Given the description of an element on the screen output the (x, y) to click on. 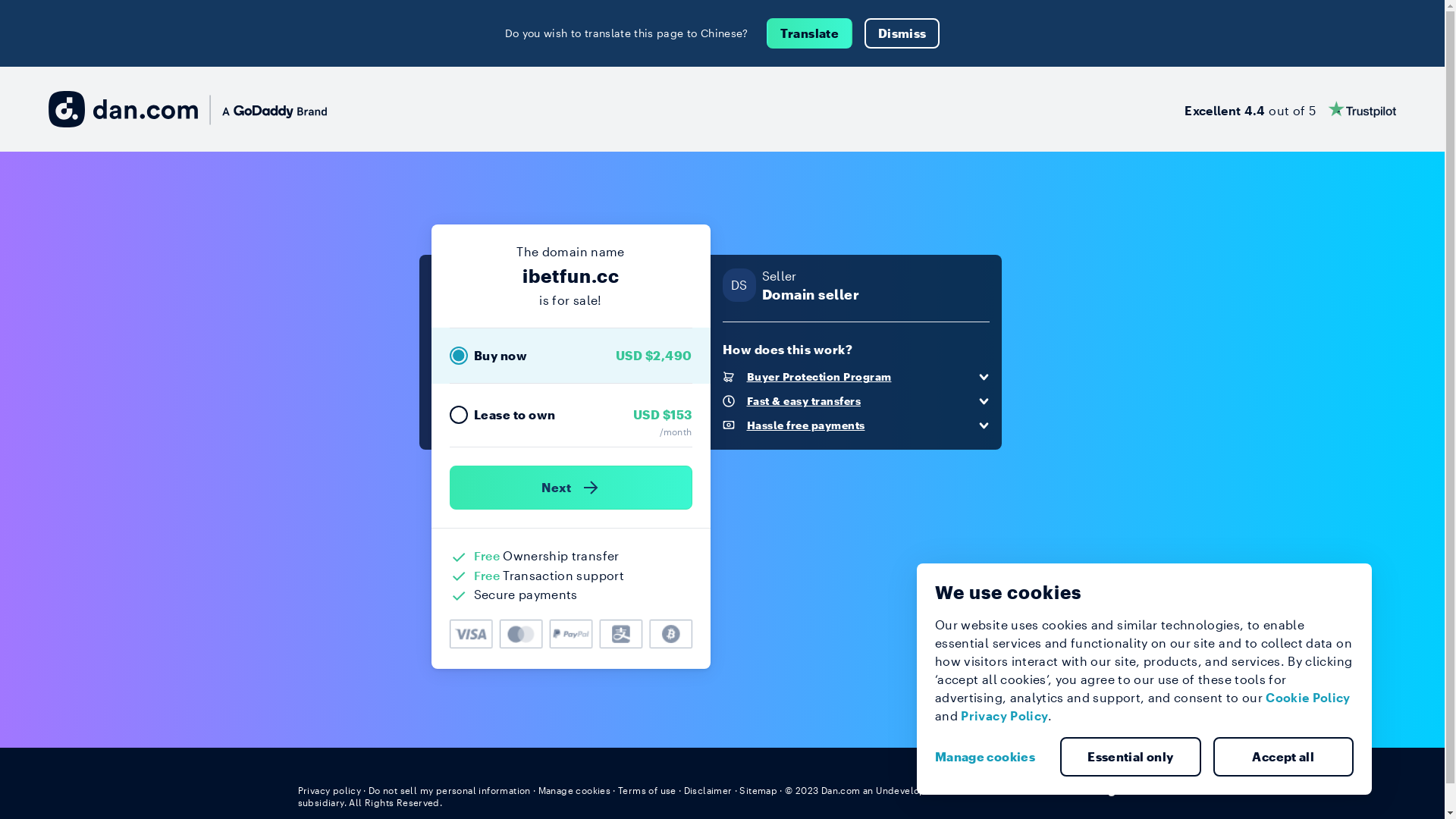
Sitemap Element type: text (758, 789)
Next
) Element type: text (569, 487)
Excellent 4.4 out of 5 Element type: text (1290, 109)
Essential only Element type: text (1130, 756)
Privacy policy Element type: text (328, 789)
Cookie Policy Element type: text (1307, 697)
Dismiss Element type: text (901, 33)
Do not sell my personal information Element type: text (449, 789)
Manage cookies Element type: text (574, 790)
Accept all Element type: text (1283, 756)
Terms of use Element type: text (647, 789)
Manage cookies Element type: text (991, 756)
Disclaimer Element type: text (708, 789)
Privacy Policy Element type: text (1004, 715)
English Element type: text (1119, 789)
Translate Element type: text (809, 33)
